Given the description of an element on the screen output the (x, y) to click on. 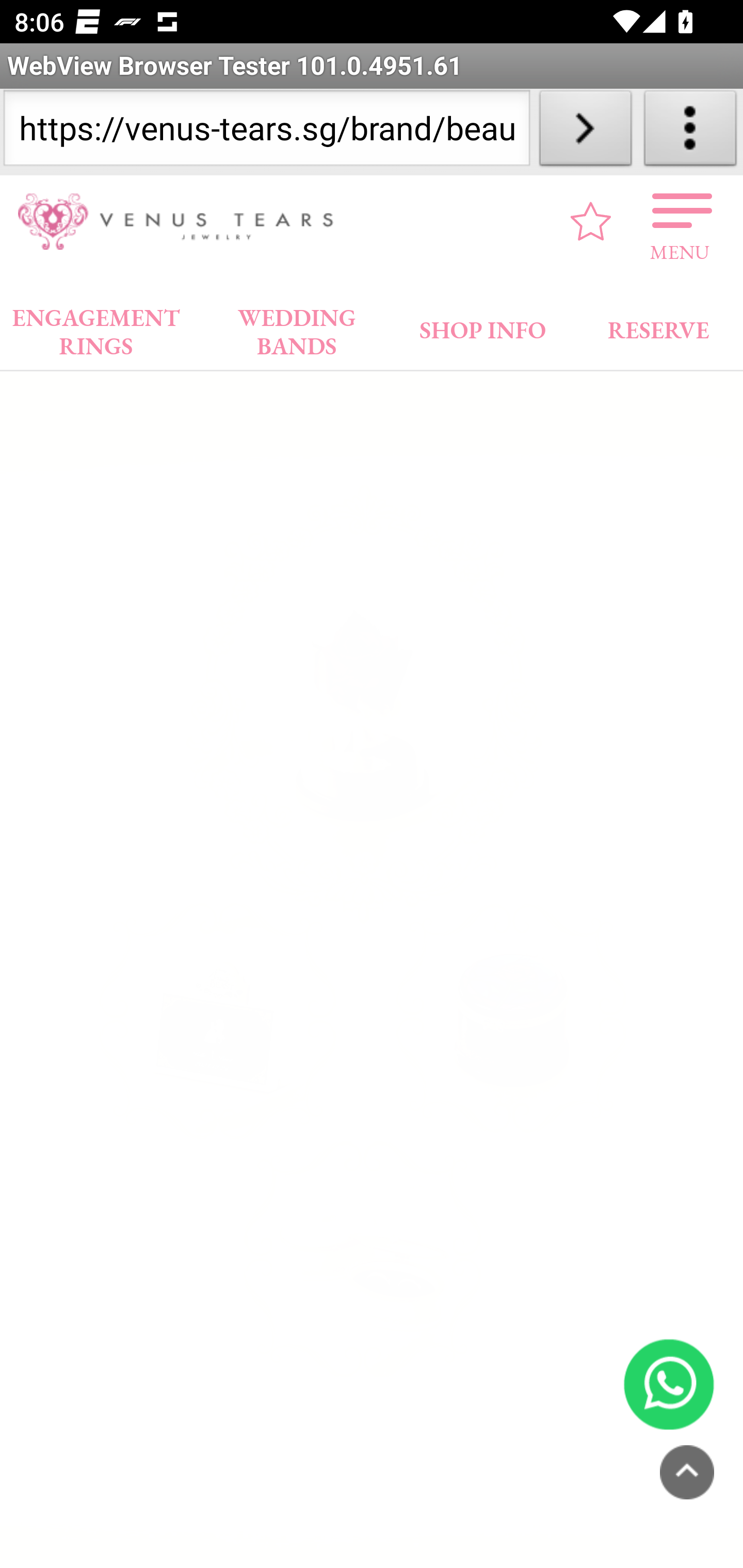
Load URL (585, 132)
About WebView (690, 132)
favourite (591, 220)
MENU (680, 220)
VENUS TEARS (181, 221)
ENGAGEMENT RINGS ENGAGEMENT RINGS (96, 326)
WEDDING BANDS WEDDING BANDS (296, 326)
SHOP INFO (482, 325)
RESERVE (657, 325)
6585184875 (668, 1383)
PAGETOP (686, 1472)
